Given the description of an element on the screen output the (x, y) to click on. 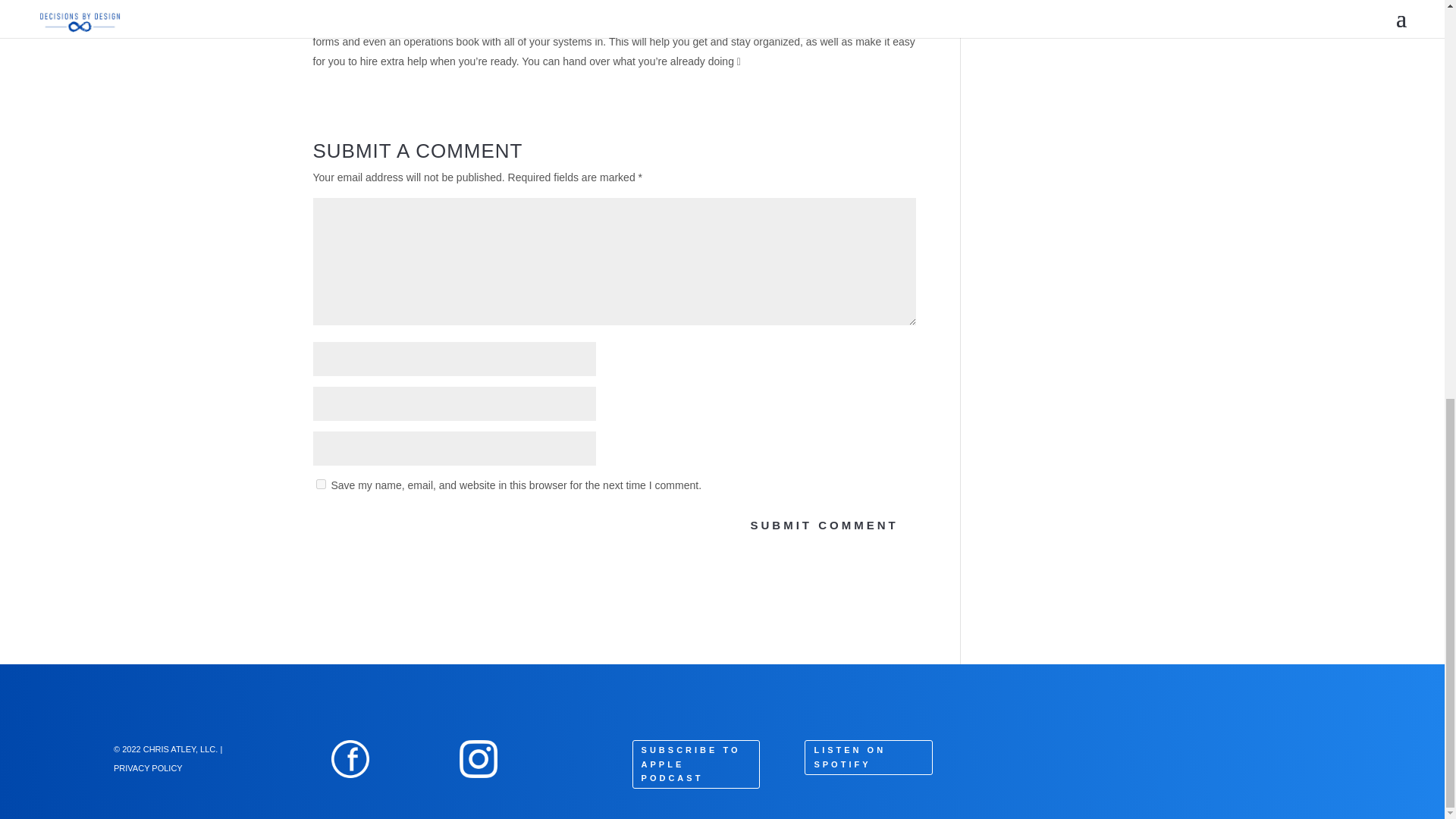
Submit Comment (823, 525)
new-Instagram-logo-white-glyph-1536x1536 (478, 759)
Submit Comment (823, 525)
yes (319, 483)
SUBSCRIBE TO APPLE PODCAST (695, 764)
PRIVACY POLICY (148, 768)
LISTEN ON SPOTIFY (868, 757)
facebook copy (350, 759)
